Given the description of an element on the screen output the (x, y) to click on. 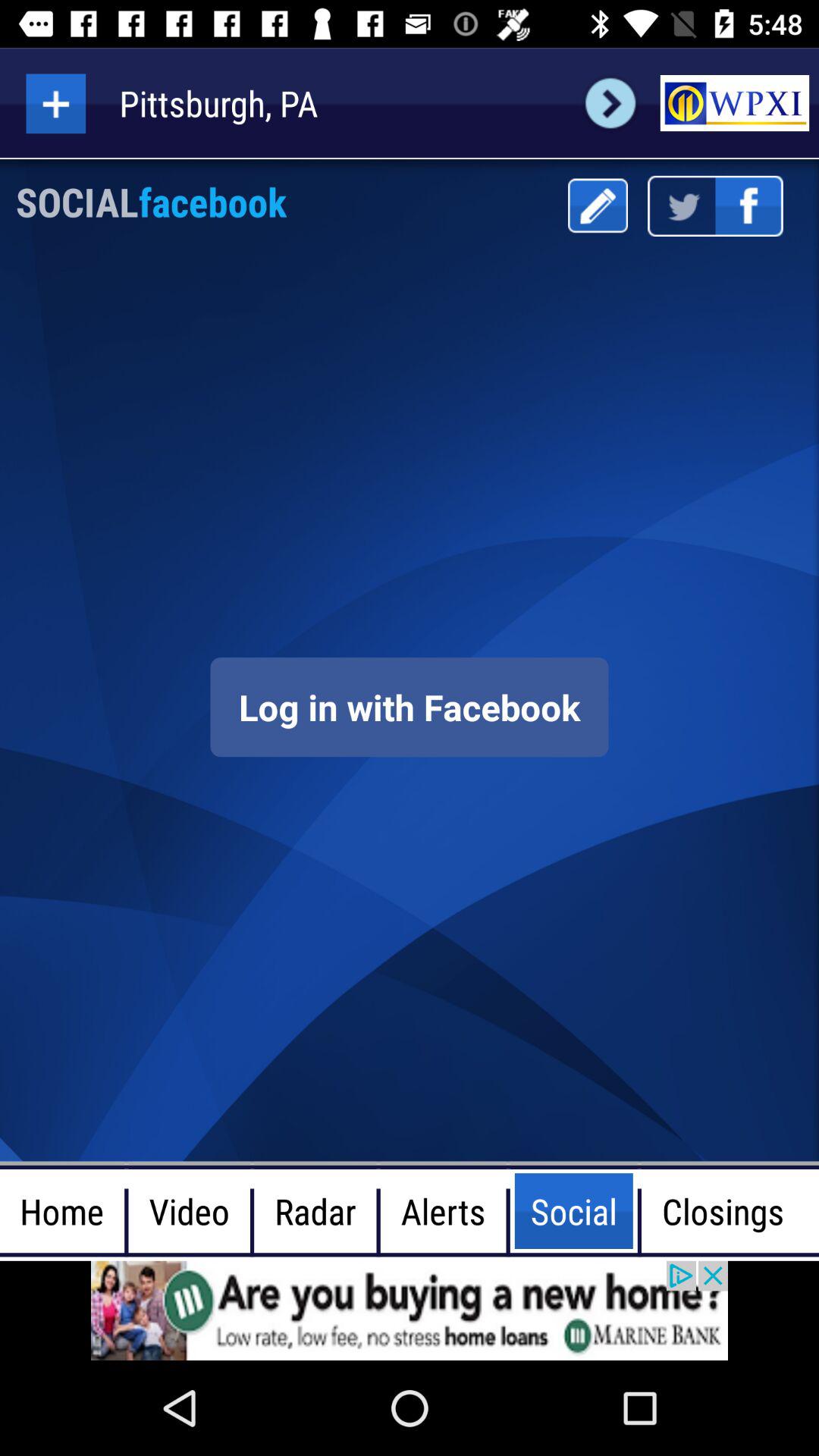
log in with facebook (409, 707)
